Given the description of an element on the screen output the (x, y) to click on. 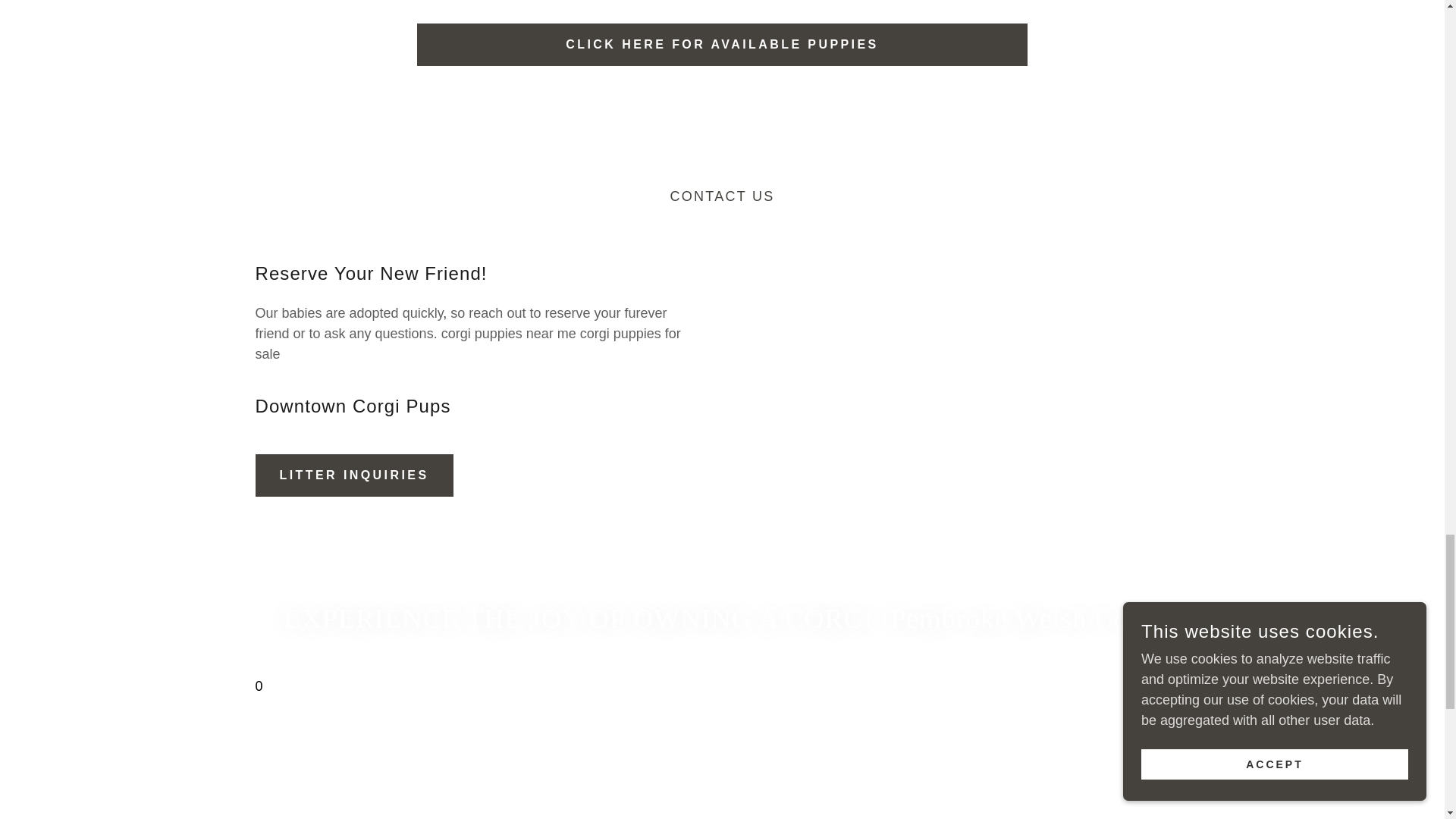
LITTER INQUIRIES (353, 475)
CLICK HERE FOR AVAILABLE PUPPIES (721, 44)
